Given the description of an element on the screen output the (x, y) to click on. 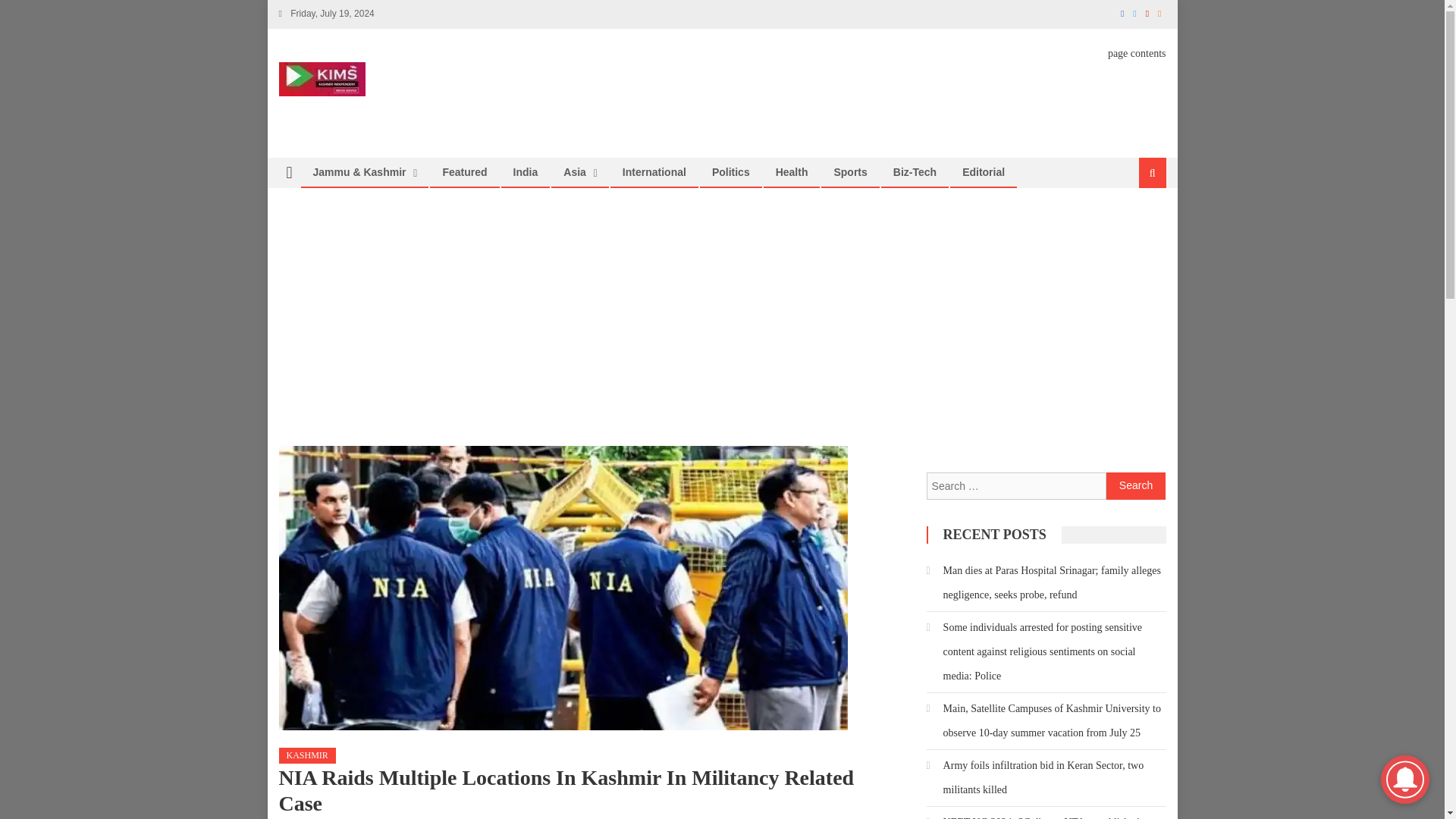
Search (1136, 485)
Search (1133, 223)
Featured (463, 172)
Politics (730, 172)
India (526, 172)
Search (1136, 485)
KASHMIR (307, 755)
Sports (849, 172)
Editorial (983, 172)
Search (1136, 485)
Health (791, 172)
Asia (573, 172)
International (654, 172)
Biz-Tech (914, 172)
